Given the description of an element on the screen output the (x, y) to click on. 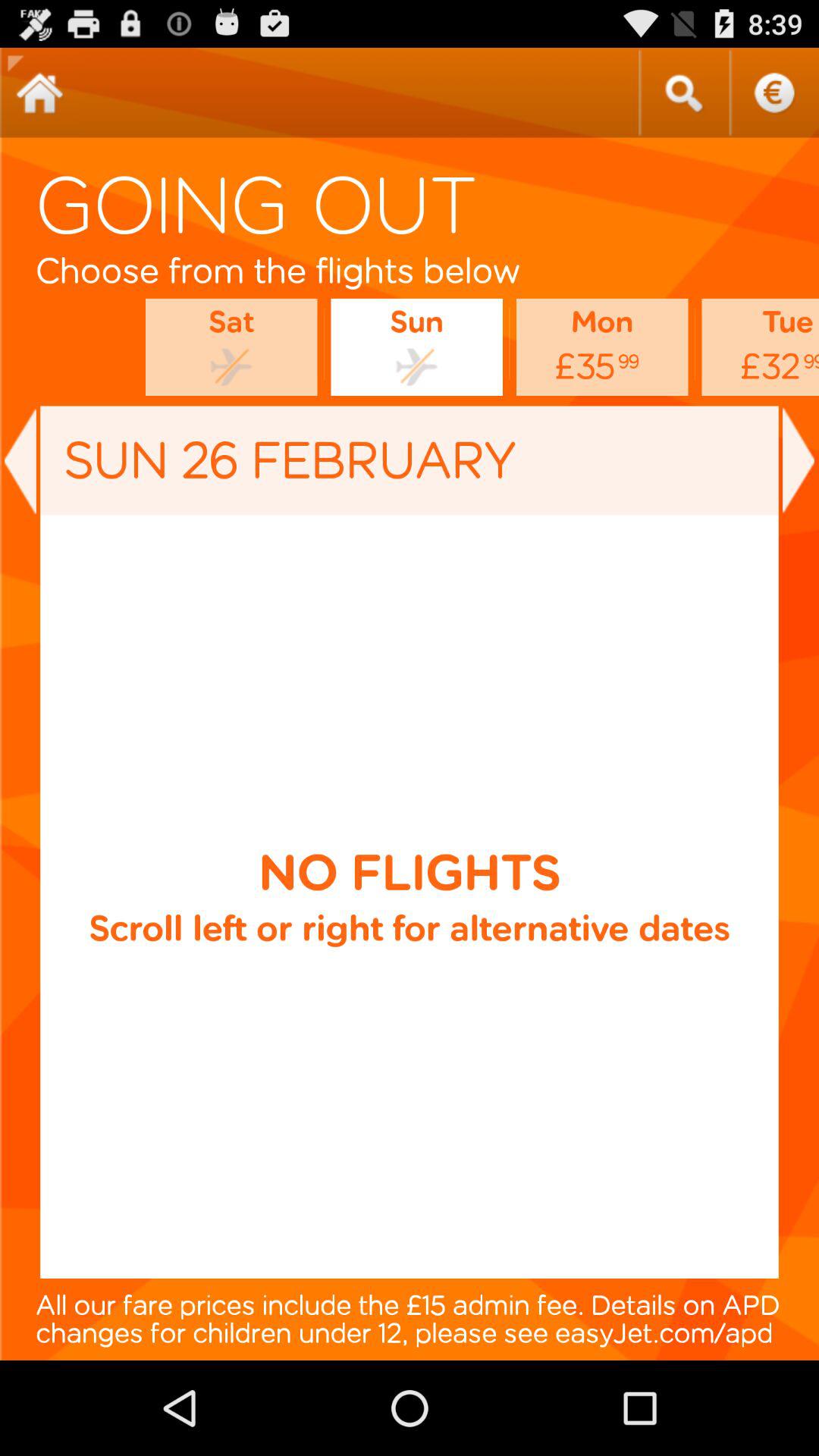
magnifying glass icon to search (683, 92)
